Given the description of an element on the screen output the (x, y) to click on. 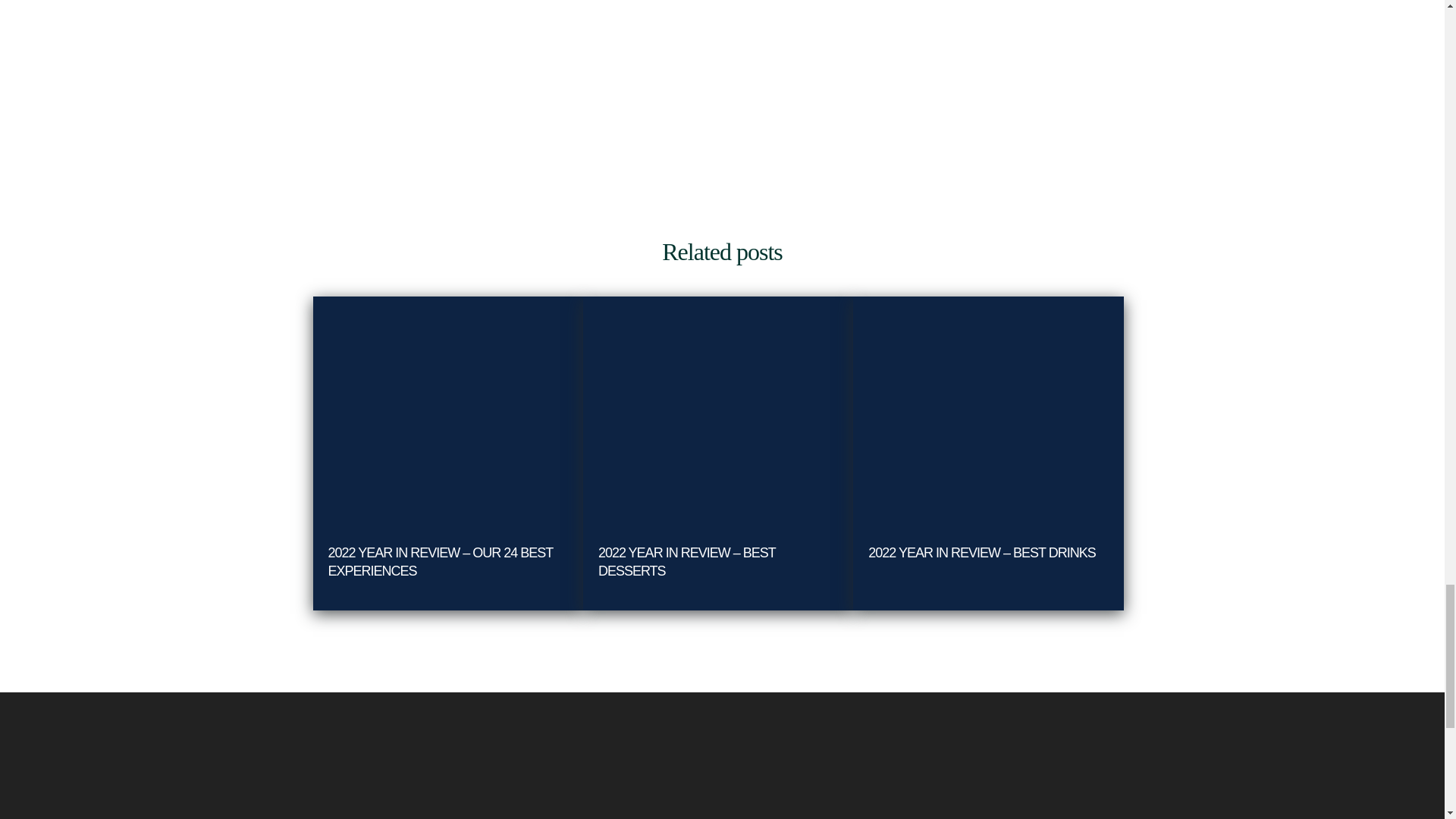
Comment Form (722, 76)
